Given the description of an element on the screen output the (x, y) to click on. 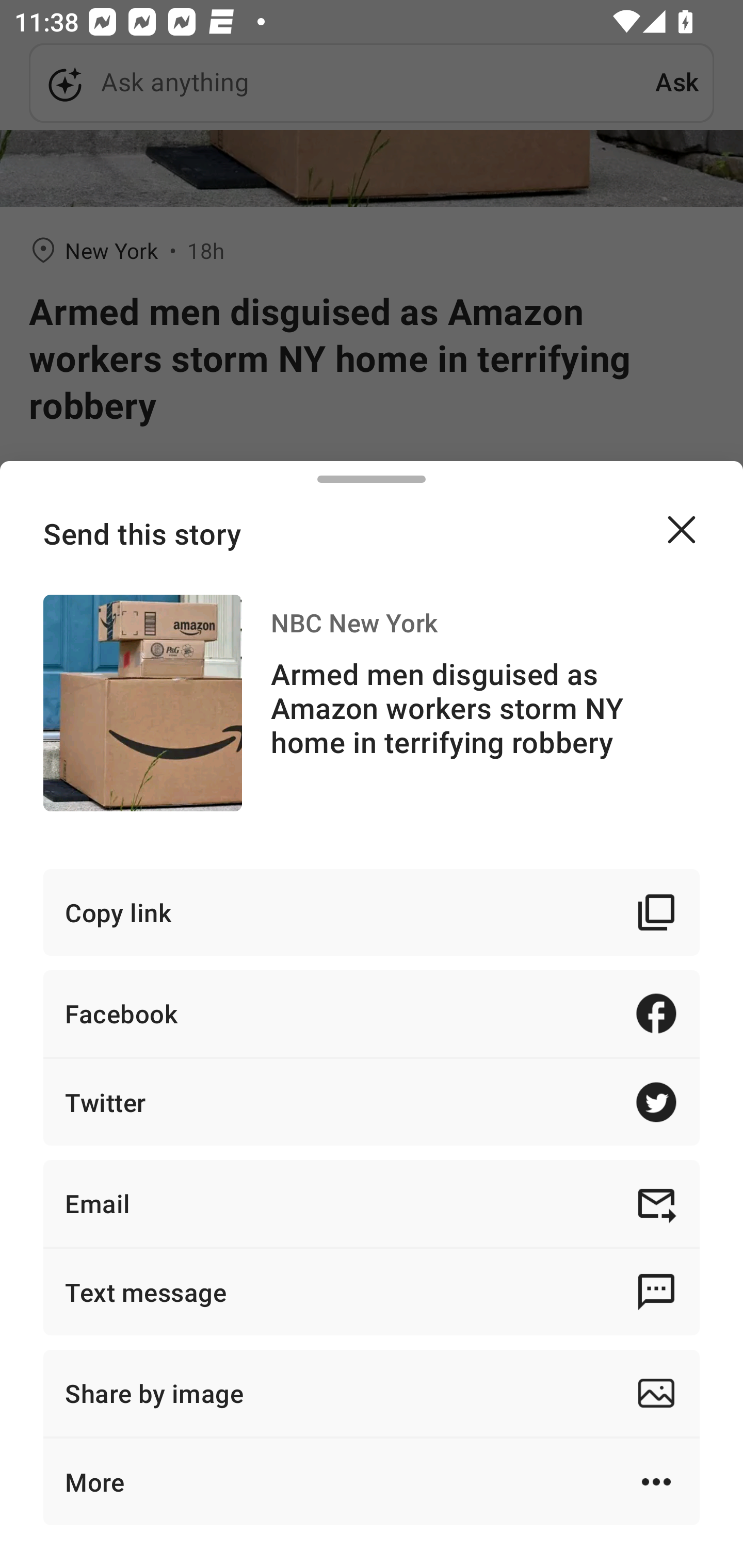
Copy link (371, 912)
Facebook (371, 1013)
Twitter (371, 1102)
Email (371, 1203)
Text message (371, 1291)
Share by image (371, 1393)
More (371, 1481)
